Given the description of an element on the screen output the (x, y) to click on. 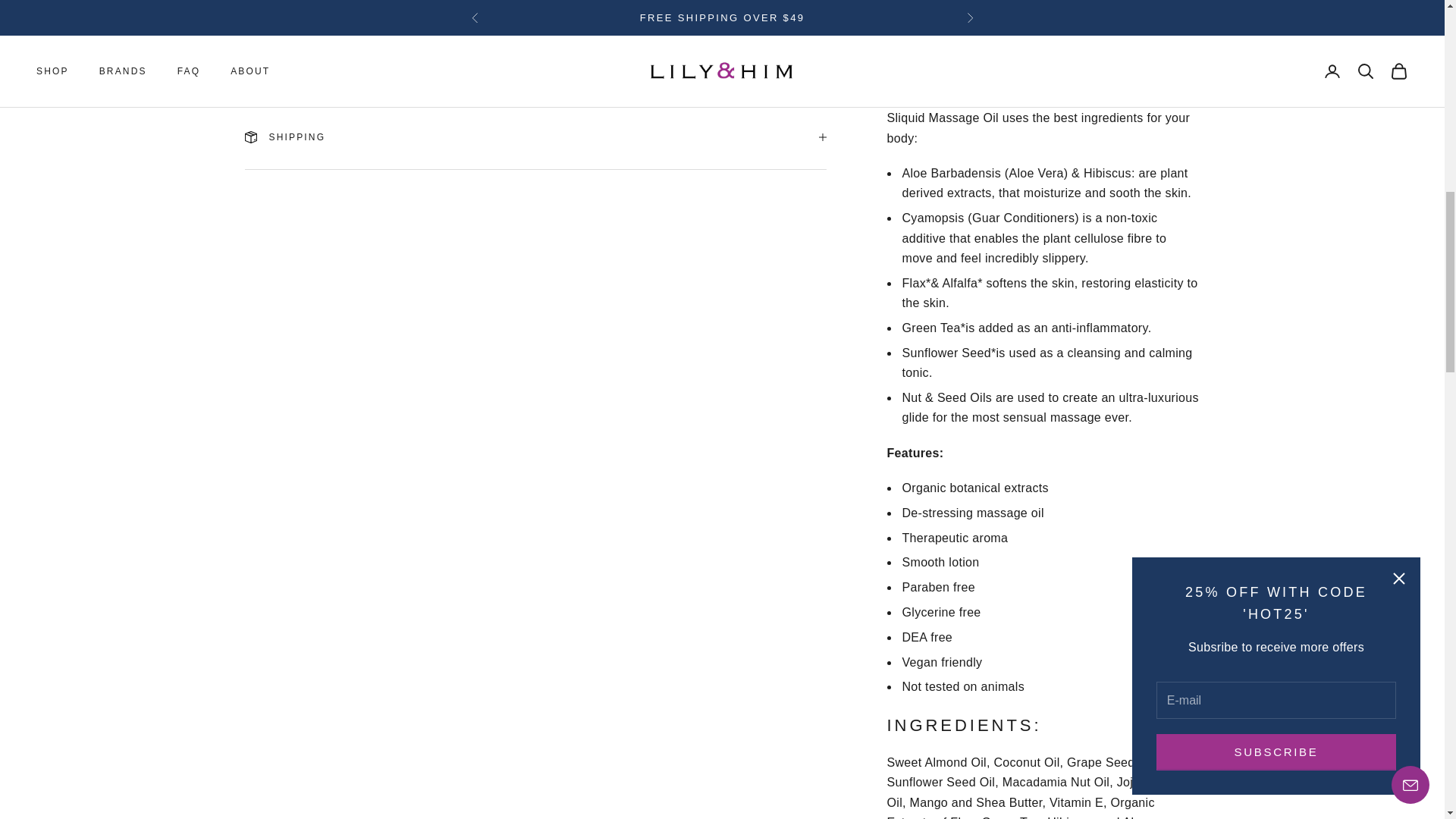
SHIPPING (534, 136)
